Given the description of an element on the screen output the (x, y) to click on. 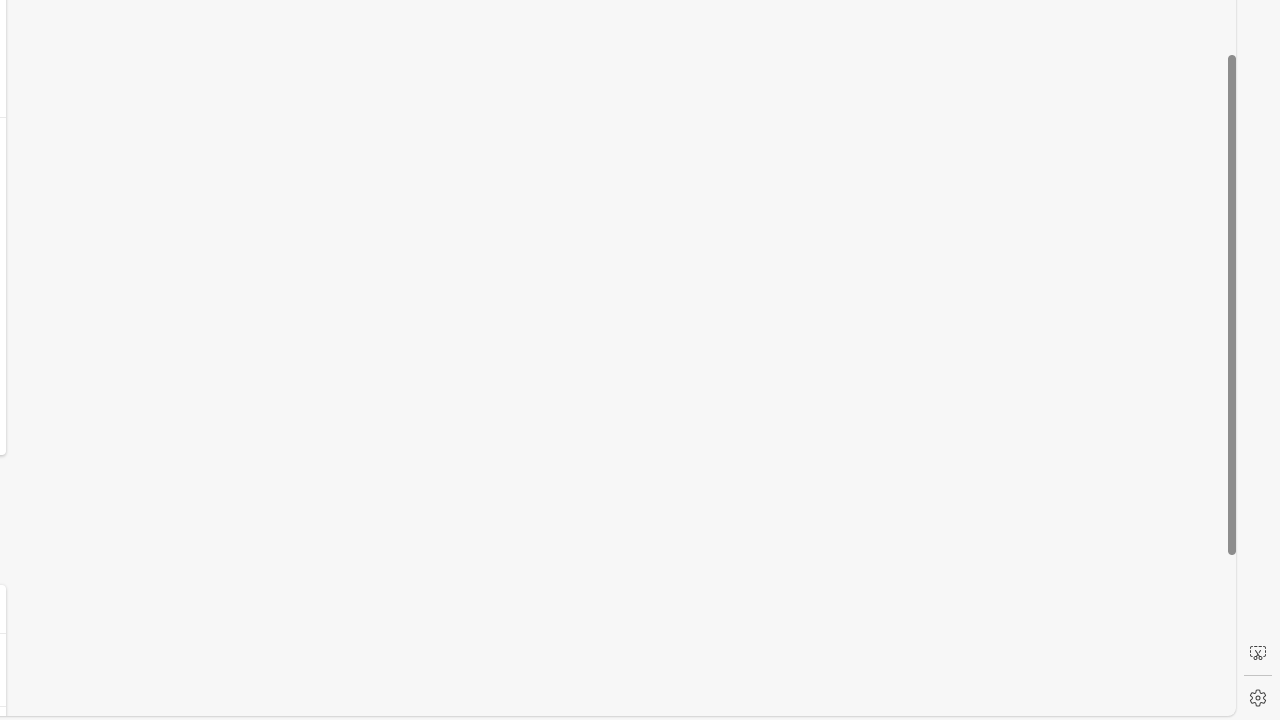
Screenshot Element type: push-button (1258, 653)
Settings Element type: push-button (1258, 698)
